Given the description of an element on the screen output the (x, y) to click on. 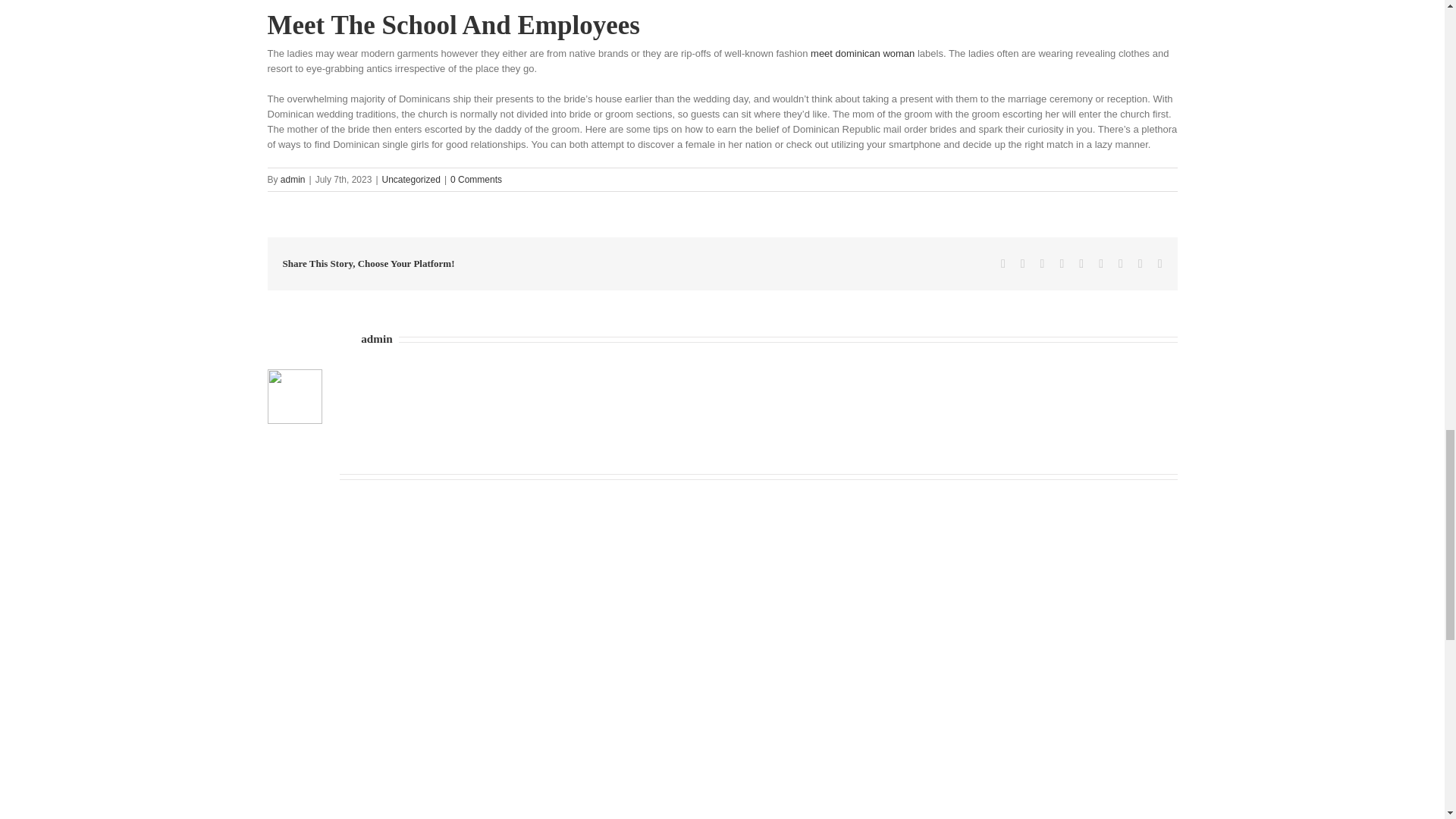
Uncategorized (411, 179)
meet dominican woman (862, 52)
0 Comments (475, 179)
admin (293, 179)
